Given the description of an element on the screen output the (x, y) to click on. 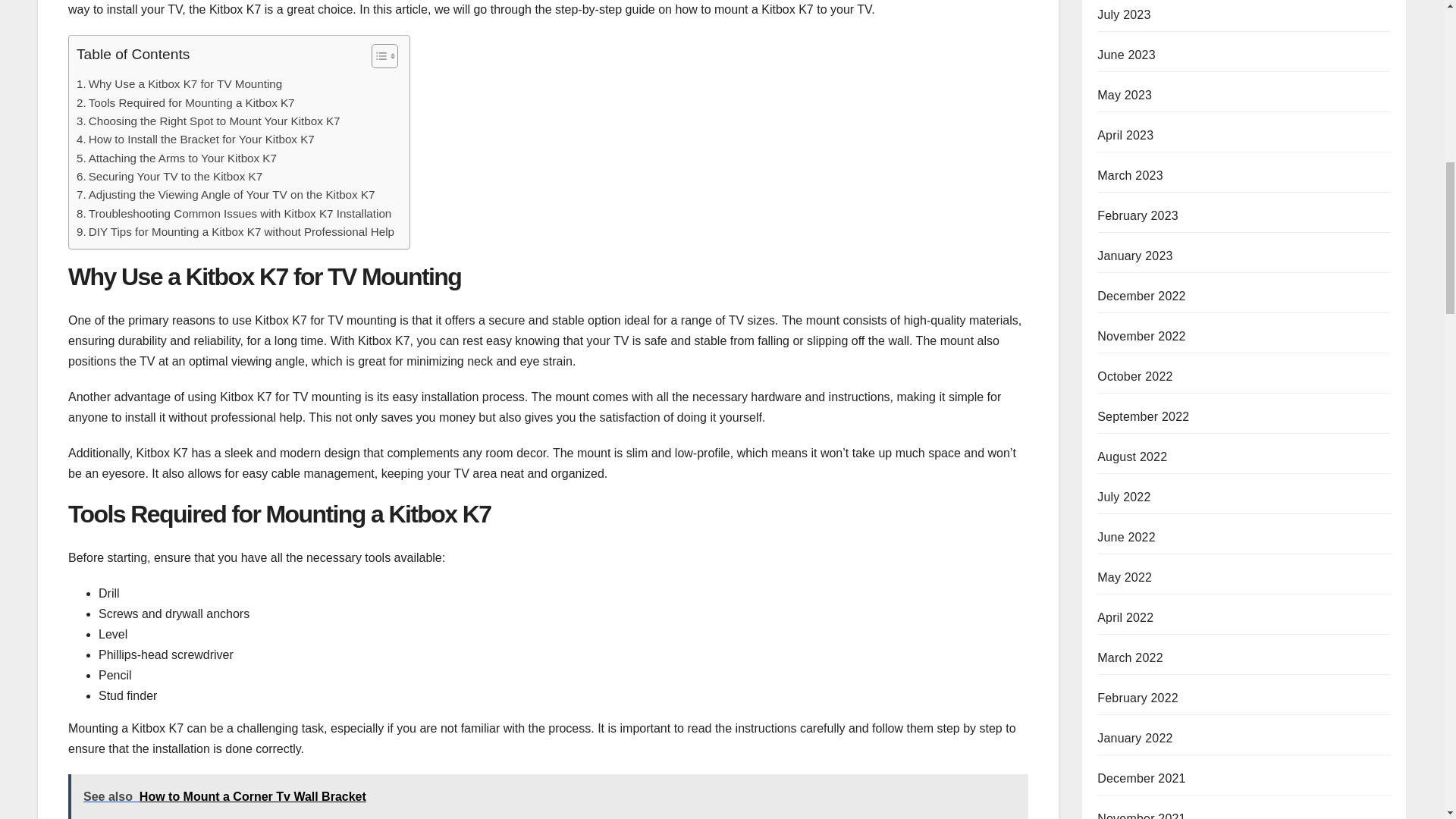
Tools Required for Mounting a Kitbox K7 (186, 103)
DIY Tips for Mounting a Kitbox K7 without Professional Help (235, 231)
How to Install the Bracket for Your Kitbox K7 (195, 139)
DIY Tips for Mounting a Kitbox K7 without Professional Help (235, 231)
Adjusting the Viewing Angle of Your TV on the Kitbox K7 (225, 194)
Adjusting the Viewing Angle of Your TV on the Kitbox K7 (225, 194)
Choosing the Right Spot to Mount Your Kitbox K7 (208, 121)
Why Use a Kitbox K7 for TV Mounting (179, 84)
Choosing the Right Spot to Mount Your Kitbox K7 (208, 121)
Attaching the Arms to Your Kitbox K7 (176, 158)
